Given the description of an element on the screen output the (x, y) to click on. 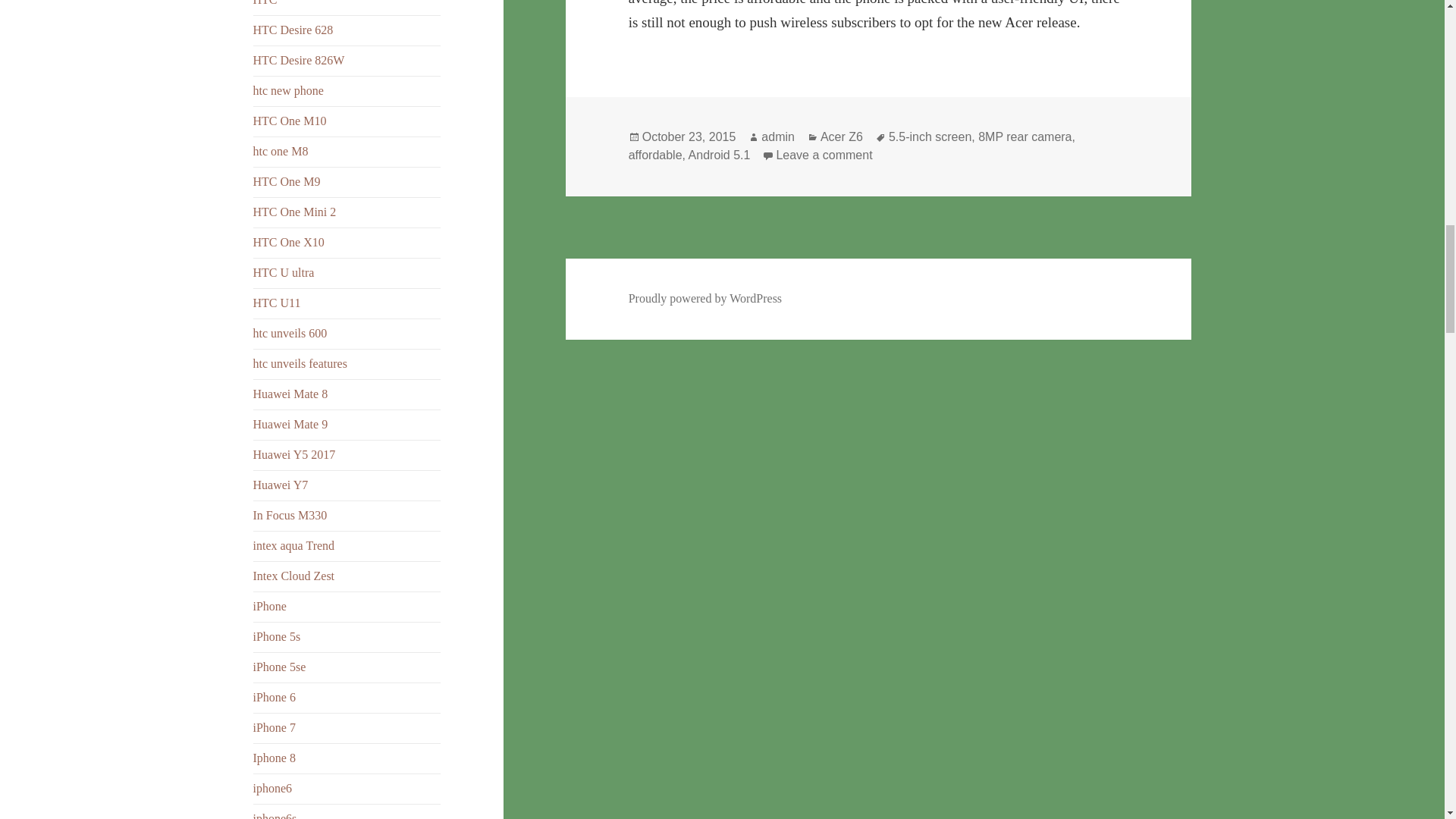
htc one M8 (280, 151)
HTC Desire 628 (293, 29)
HTC Desire 826W (299, 60)
HTC (265, 2)
HTC One M9 (286, 181)
HTC One M10 (289, 120)
htc new phone (288, 90)
